Given the description of an element on the screen output the (x, y) to click on. 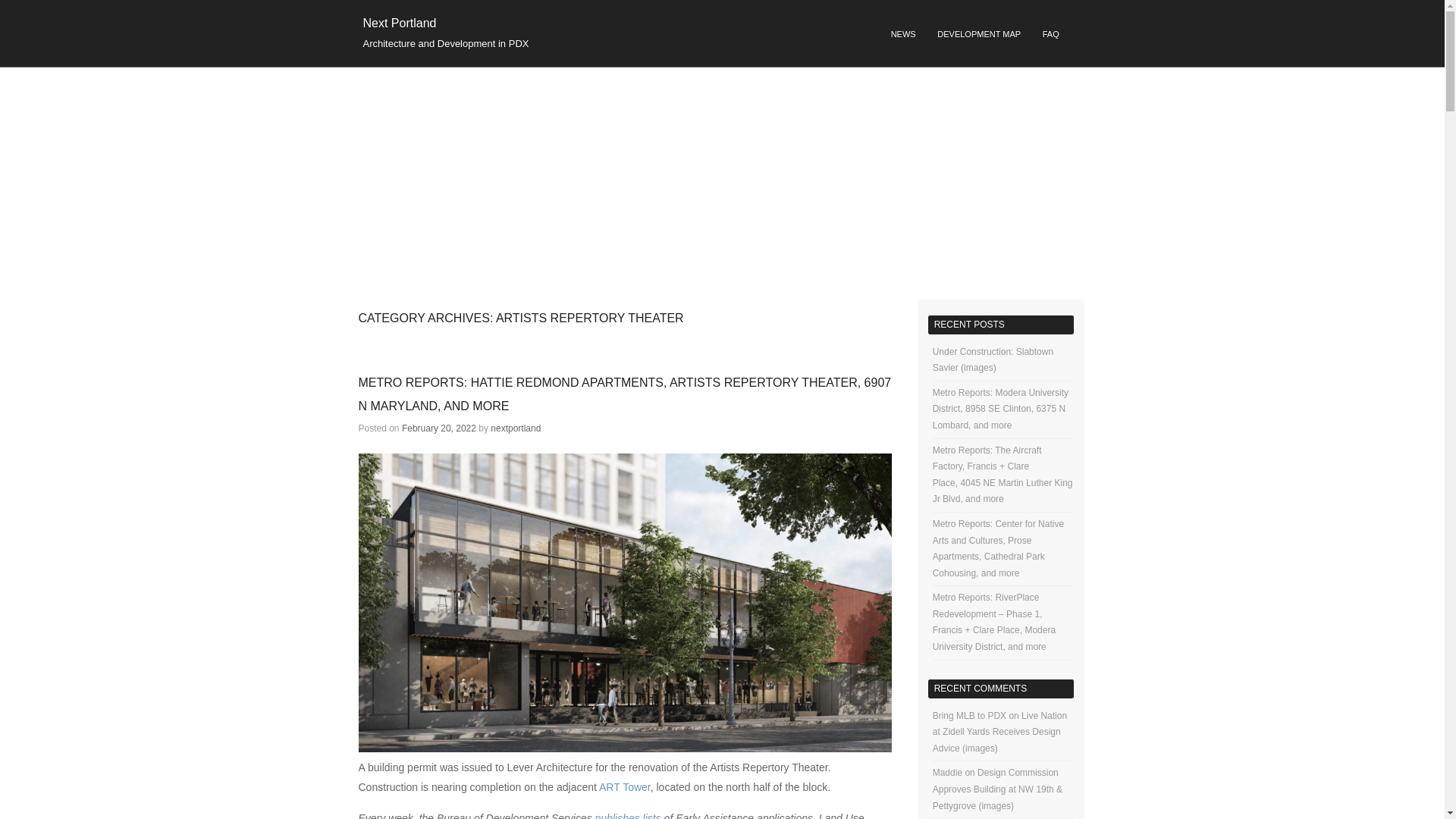
FAQ (1050, 34)
Next Portland (398, 22)
February 20, 2022 (438, 428)
Skip to content (620, 28)
DEVELOPMENT MAP (978, 34)
View all posts by nextportland (515, 428)
SKIP TO CONTENT (620, 28)
Next Portland (398, 22)
NEWS (903, 34)
